Given the description of an element on the screen output the (x, y) to click on. 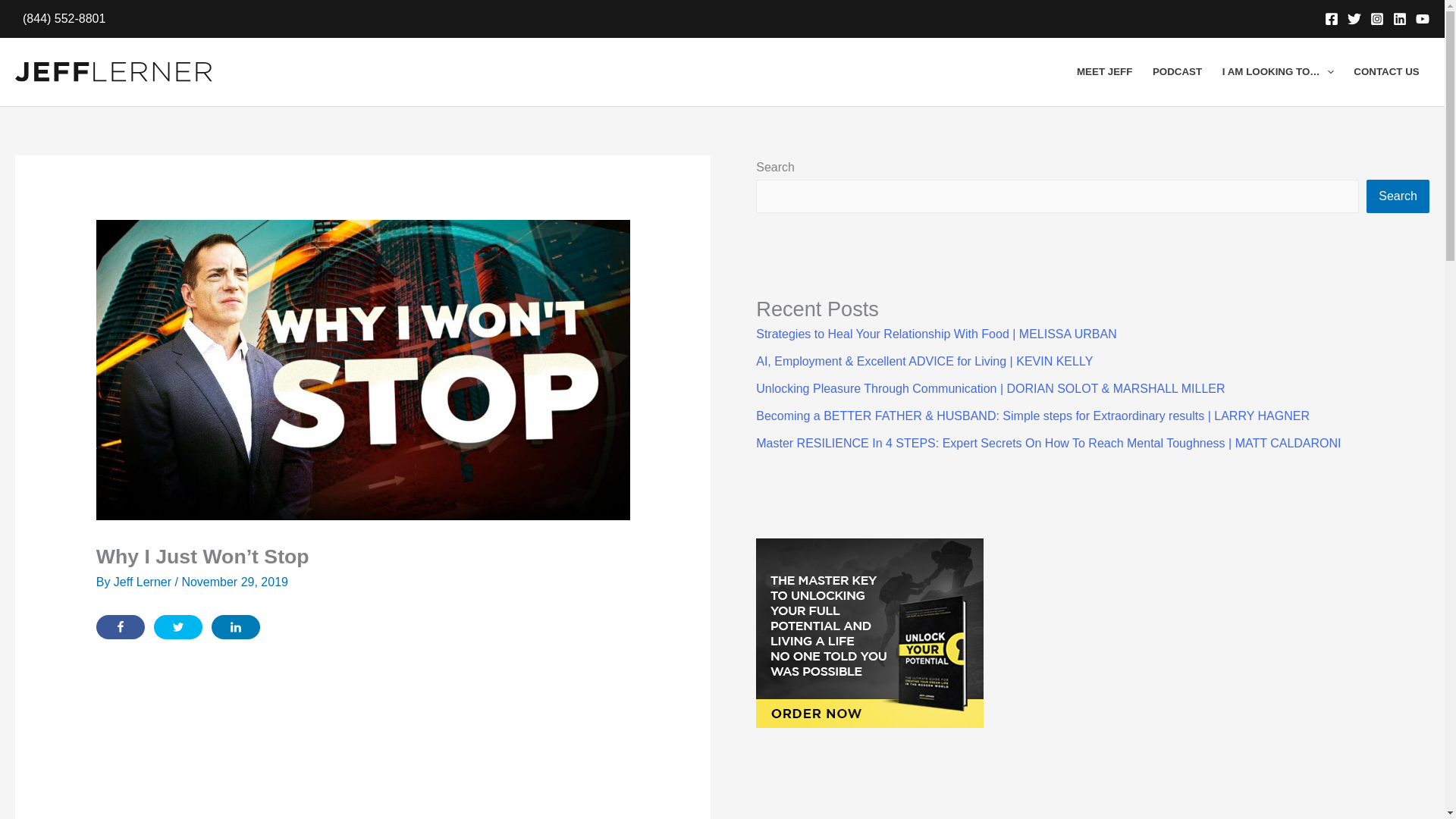
Share on LinkedIn (235, 627)
View all posts by Jeff Lerner (143, 581)
Jeff Lerner (143, 581)
Share on Twitter (178, 627)
MEET JEFF (1104, 71)
Share on Facebook (120, 627)
PODCAST (1177, 71)
CONTACT US (1386, 71)
